Given the description of an element on the screen output the (x, y) to click on. 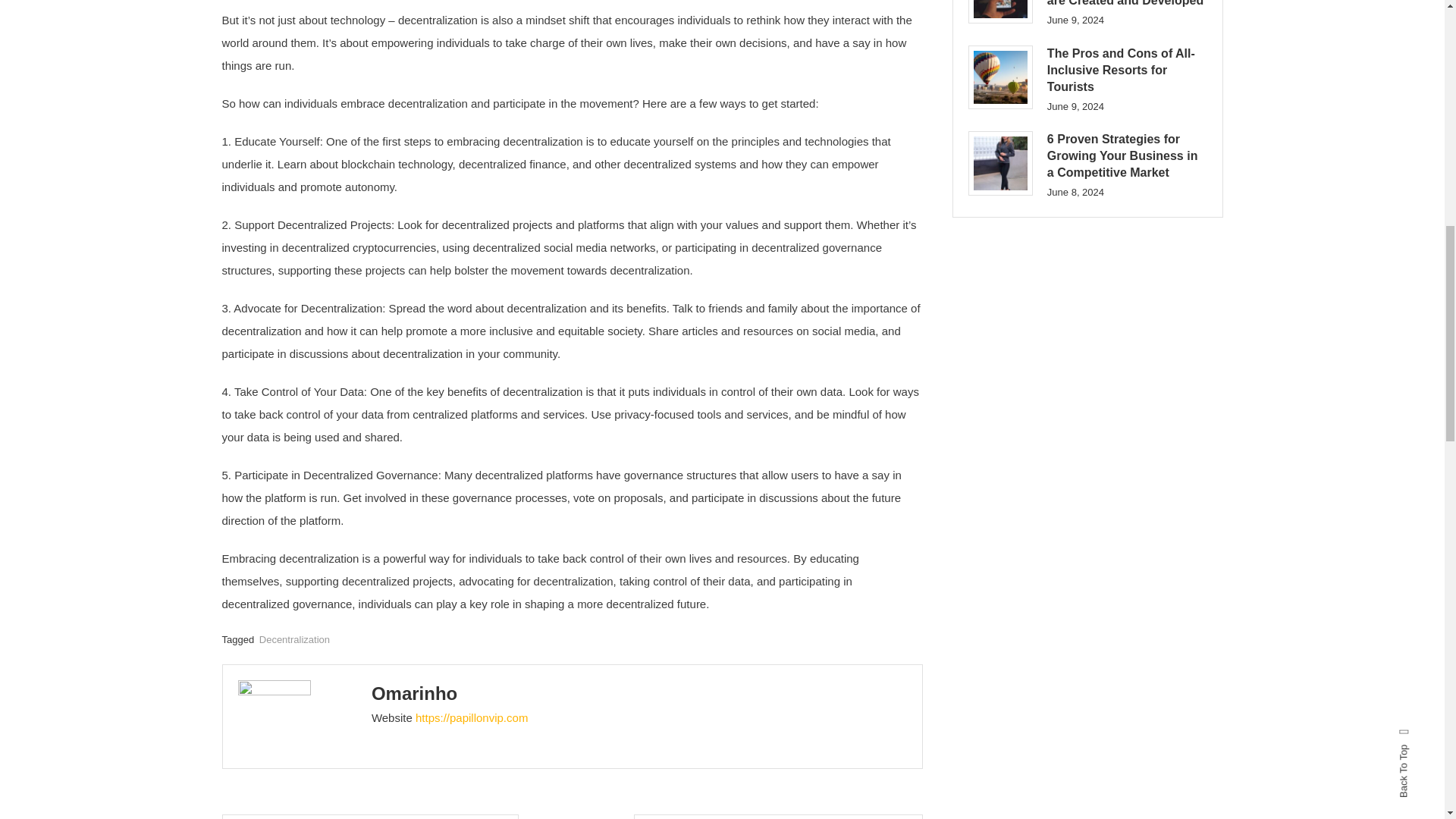
The Pros and Cons of All-Inclusive Resorts for Tourists (1000, 77)
Decentralization (294, 639)
Market Volatility: Strategies for Weathering the Storm (369, 816)
How to Successfully Lead a Team Through Change (778, 816)
Omarinho (414, 693)
Posts by omarinho (414, 693)
